Given the description of an element on the screen output the (x, y) to click on. 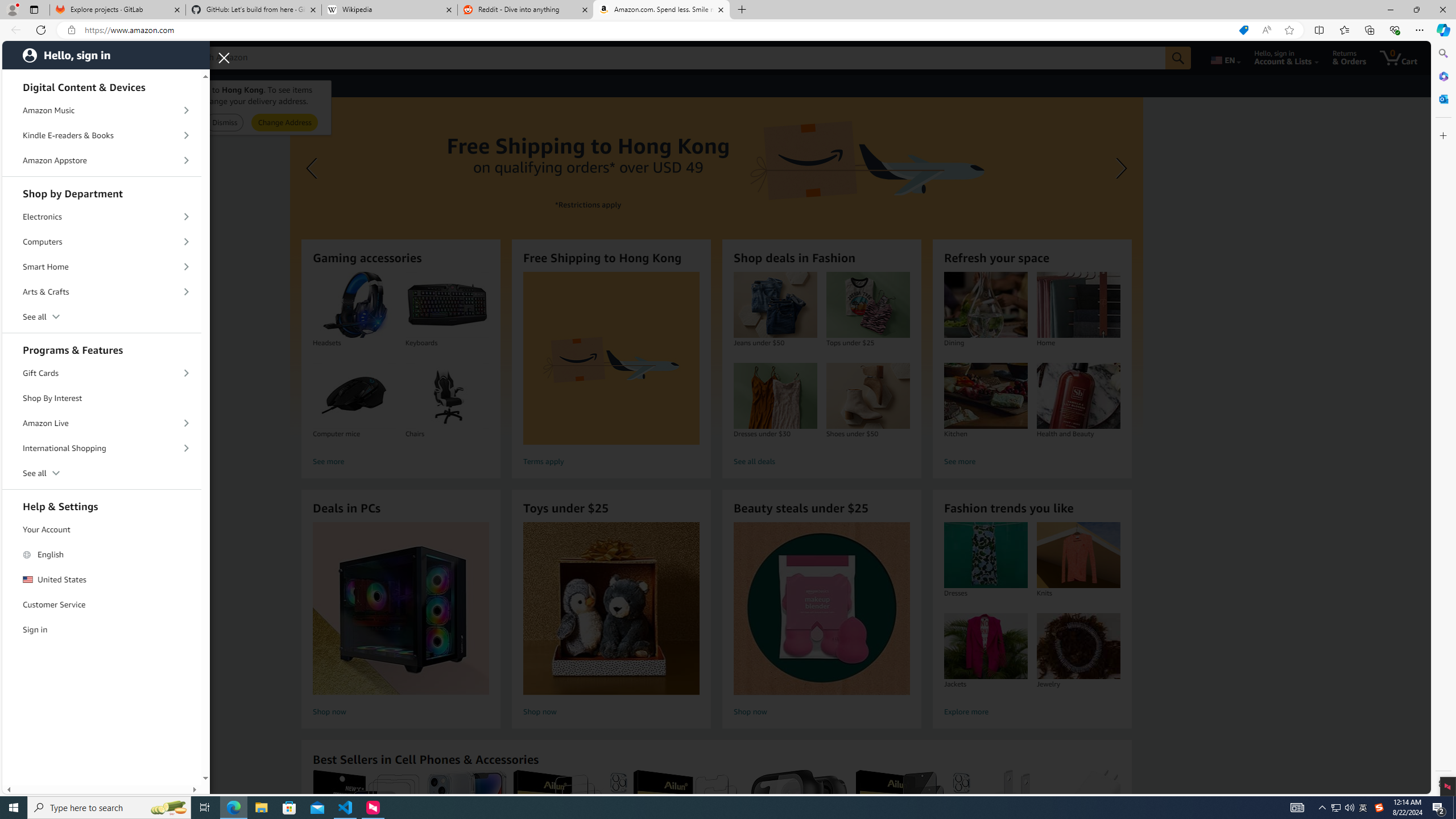
Smart Home (101, 266)
Shopping in Microsoft Edge (1243, 29)
International Shopping (101, 448)
Wikipedia (390, 9)
See all (101, 472)
Smart Home (101, 267)
Electronics (101, 217)
Computers (101, 242)
Close Outlook pane (1442, 98)
Sign in (101, 629)
